Given the description of an element on the screen output the (x, y) to click on. 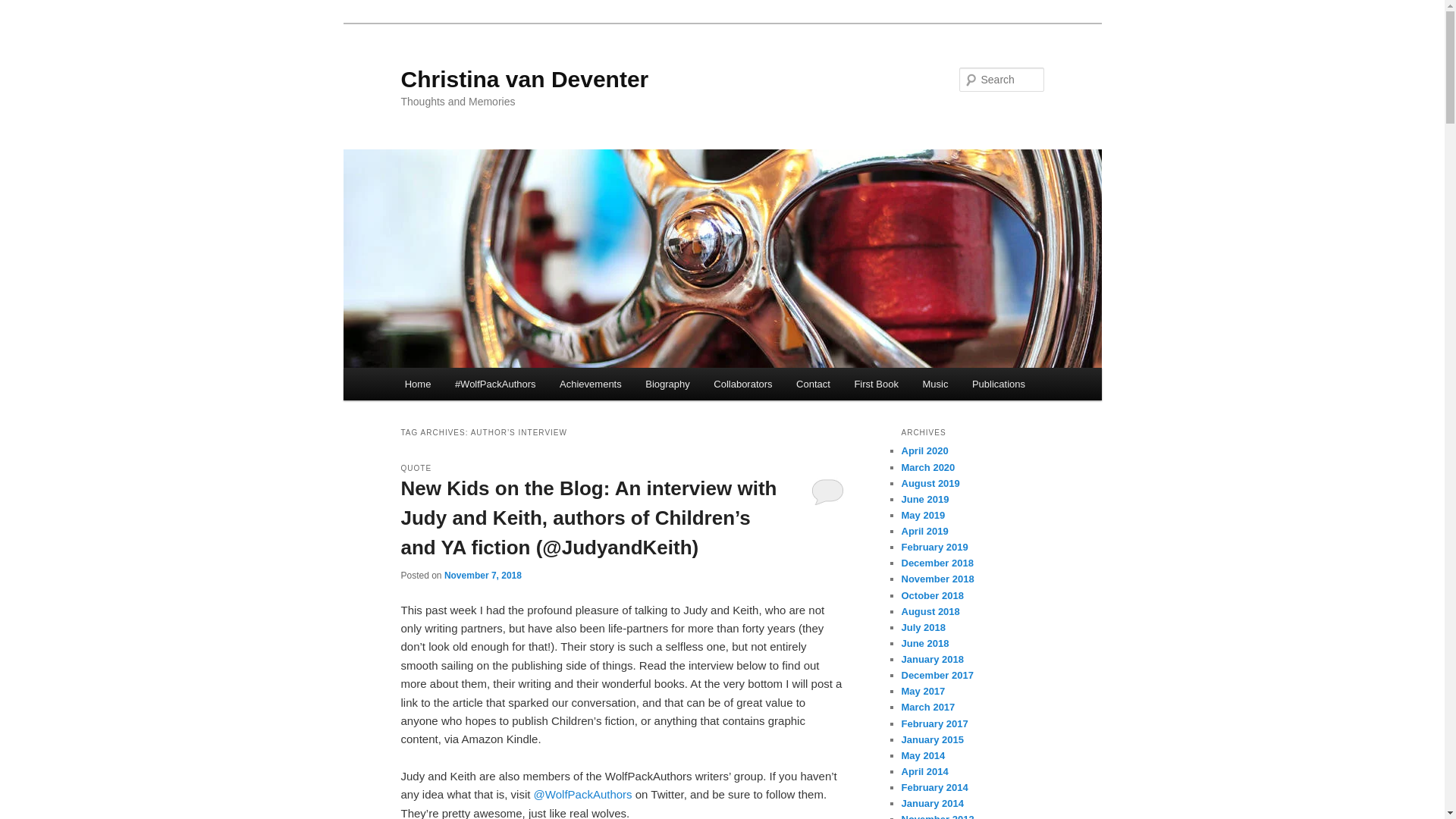
Christina van Deventer (523, 78)
Collaborators (742, 383)
Biography (667, 383)
Achievements (590, 383)
Contact (812, 383)
Music (935, 383)
Home (417, 383)
First Book (877, 383)
Publications (997, 383)
Search (24, 8)
20:47 (482, 575)
November 7, 2018 (482, 575)
